Given the description of an element on the screen output the (x, y) to click on. 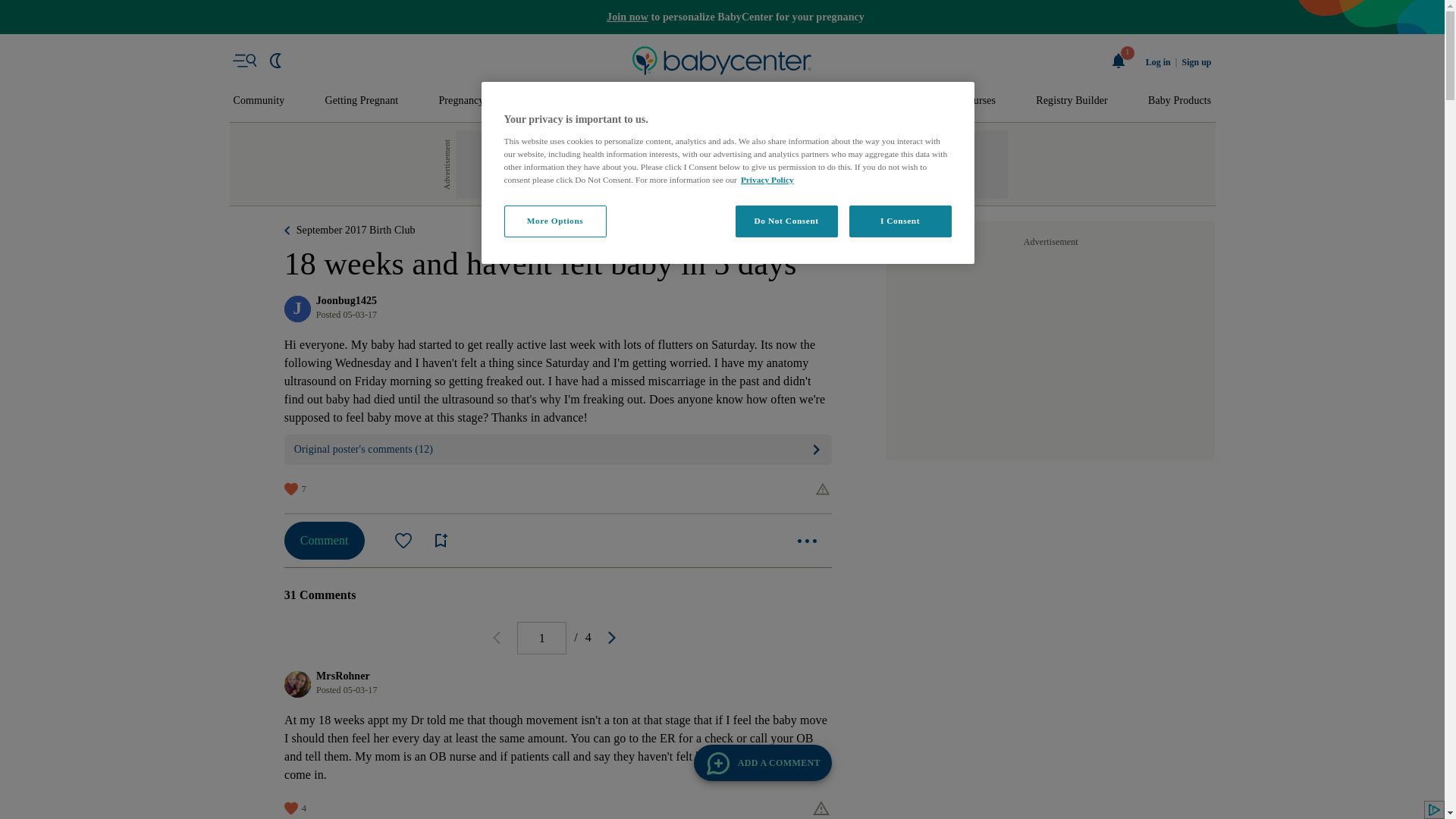
Pregnancy (460, 101)
Family (904, 101)
Toddler (699, 101)
Baby (631, 101)
Getting Pregnant (360, 101)
Child (768, 101)
Health (835, 101)
Community (258, 101)
Sign up (1195, 61)
1 (1118, 60)
Baby Products (1179, 101)
Registry Builder (1071, 101)
1 (541, 637)
Log in (1157, 61)
Baby Names (551, 101)
